Given the description of an element on the screen output the (x, y) to click on. 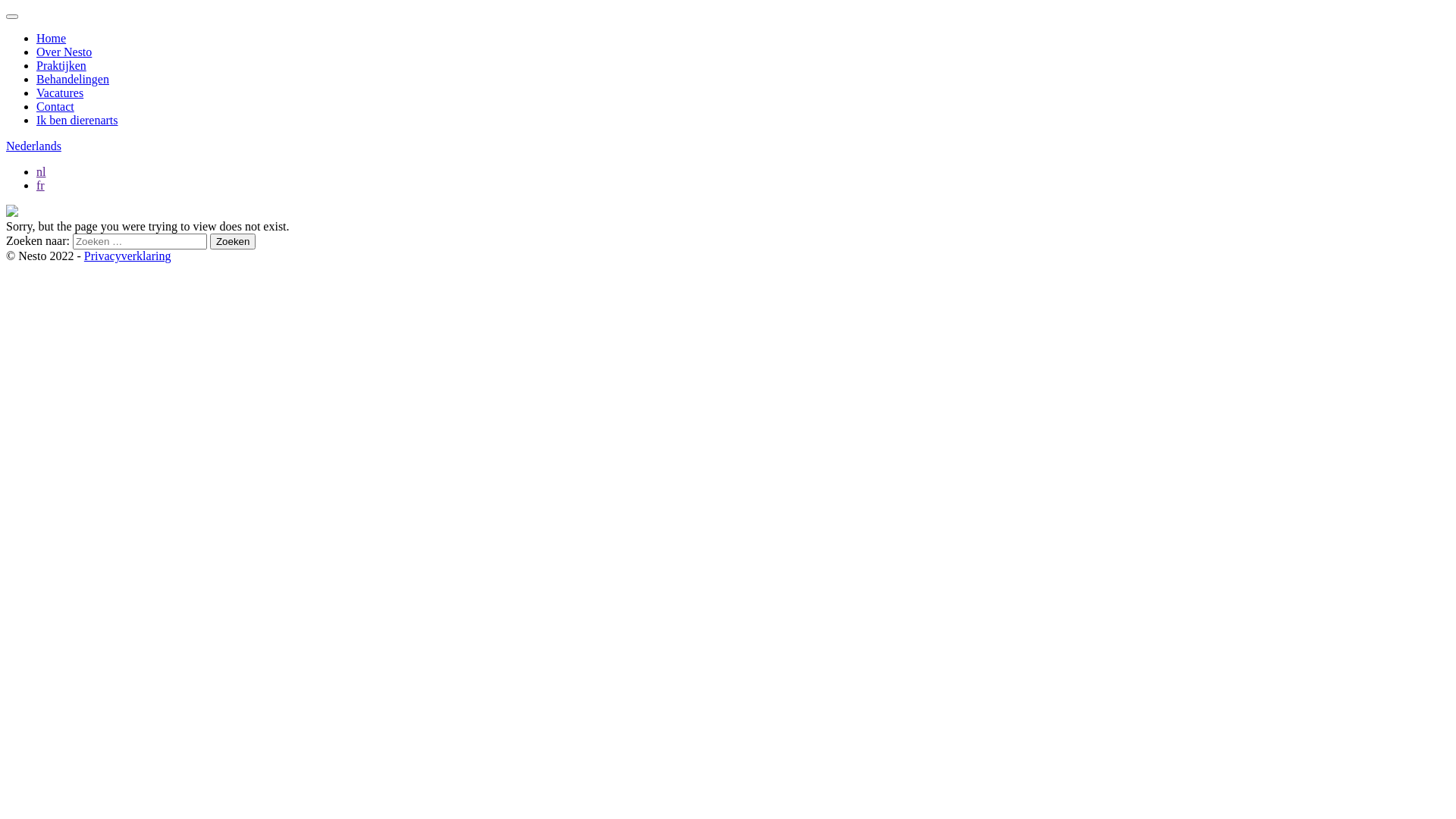
Ik ben dierenarts Element type: text (77, 119)
Contact Element type: text (55, 106)
Behandelingen Element type: text (72, 78)
Privacyverklaring Element type: text (127, 255)
Vacatures Element type: text (59, 92)
nl Element type: text (40, 171)
Home Element type: text (50, 37)
Zoeken Element type: text (232, 241)
Nederlands Element type: text (33, 145)
fr Element type: text (40, 184)
Over Nesto Element type: text (63, 51)
Praktijken Element type: text (61, 65)
